Given the description of an element on the screen output the (x, y) to click on. 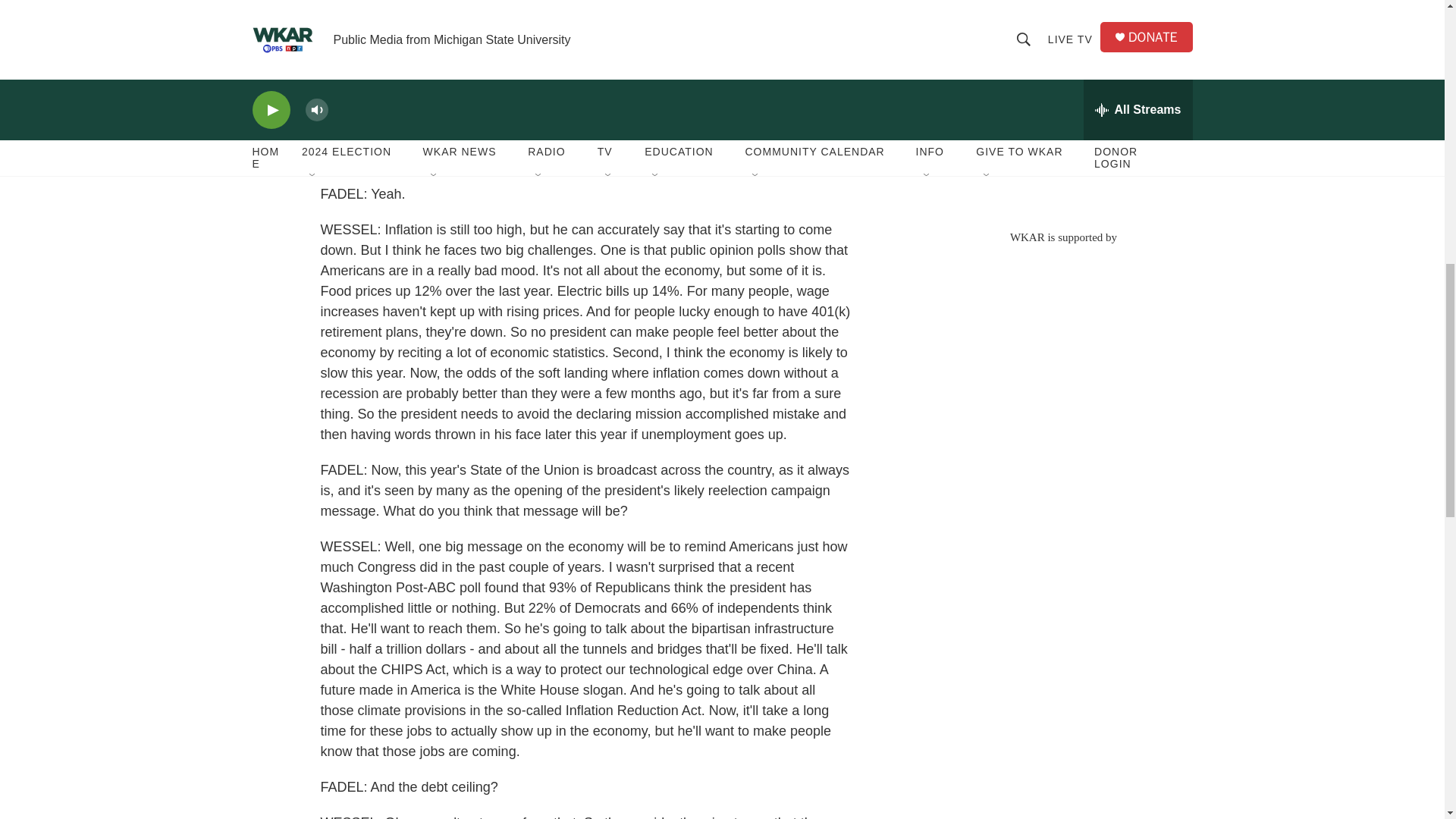
3rd party ad content (1062, 105)
3rd party ad content (1062, 353)
